Given the description of an element on the screen output the (x, y) to click on. 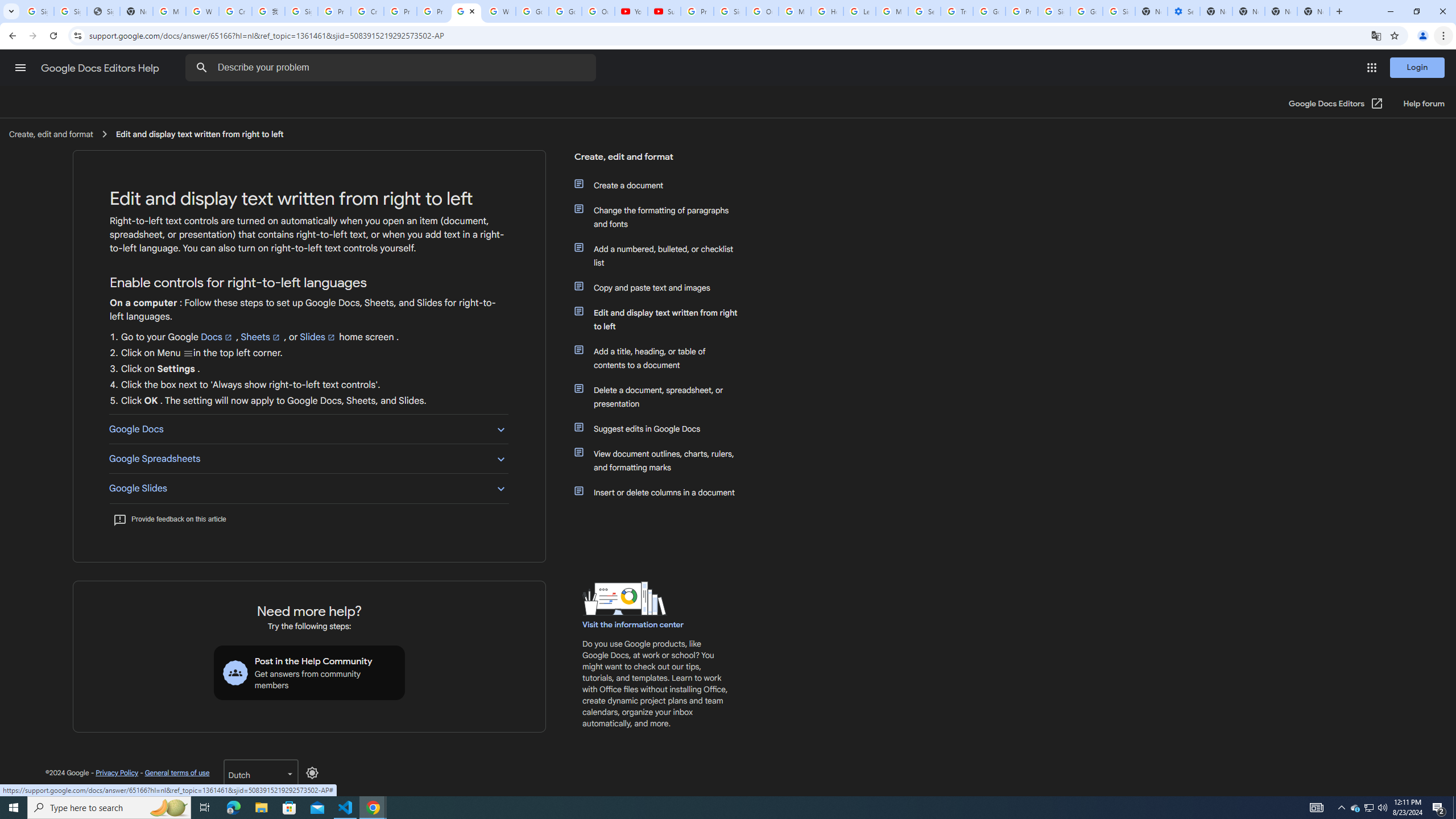
Visit the information center (633, 624)
Create, edit and format (656, 160)
Sign in - Google Accounts (730, 11)
Add a title, heading, or table of contents to a document (661, 358)
Settings - Performance (1183, 11)
Change the formatting of paragraphs and fonts (661, 217)
Create your Google Account (367, 11)
Search our Doodle Library Collection - Google Doodles (924, 11)
Sign in - Google Accounts (37, 11)
Edit and display text written from right to left (661, 319)
